Given the description of an element on the screen output the (x, y) to click on. 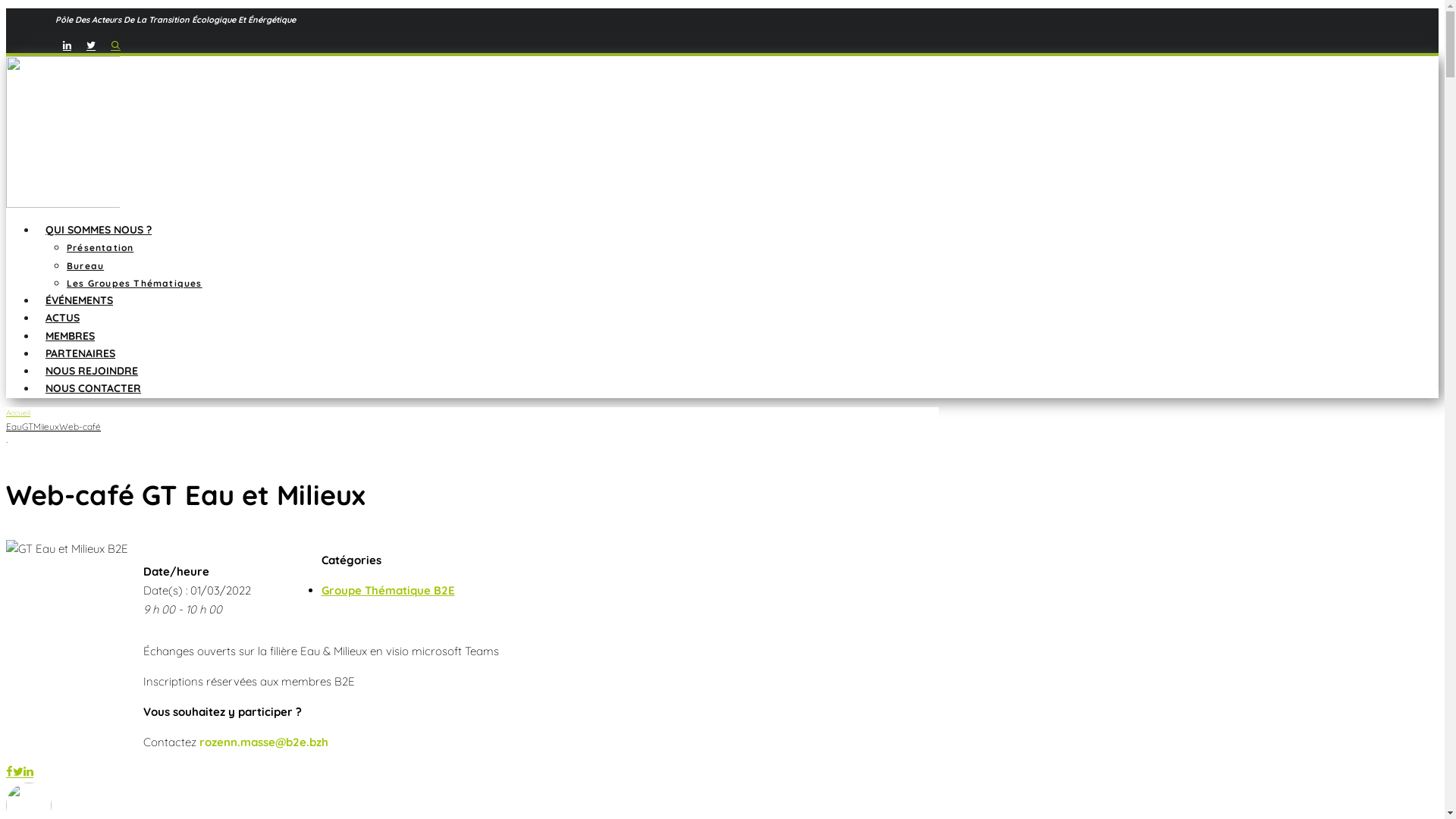
ACTUS Element type: text (62, 317)
NOUS CONTACTER Element type: text (93, 388)
Miieux Element type: text (46, 426)
MEMBRES Element type: text (69, 335)
rozenn.masse@b2e.bzh Element type: text (263, 741)
Bureau Element type: text (84, 265)
QUI SOMMES NOUS ? Element type: text (98, 229)
Accueil Element type: text (18, 412)
PARTENAIRES Element type: text (80, 353)
Eau Element type: text (13, 426)
NOUS REJOINDRE Element type: text (91, 370)
GT Element type: text (27, 426)
